Given the description of an element on the screen output the (x, y) to click on. 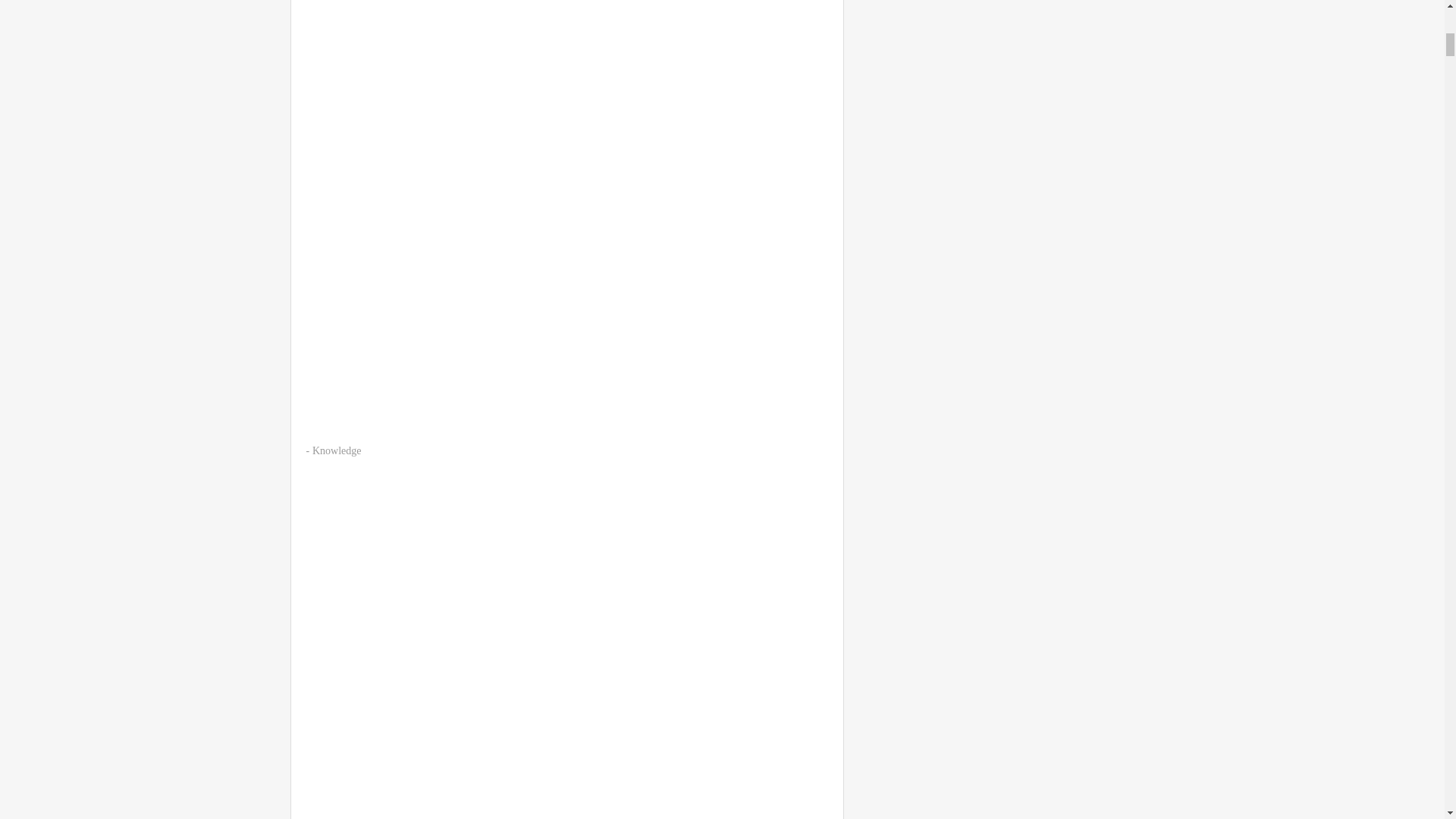
Knowledge (337, 450)
